Given the description of an element on the screen output the (x, y) to click on. 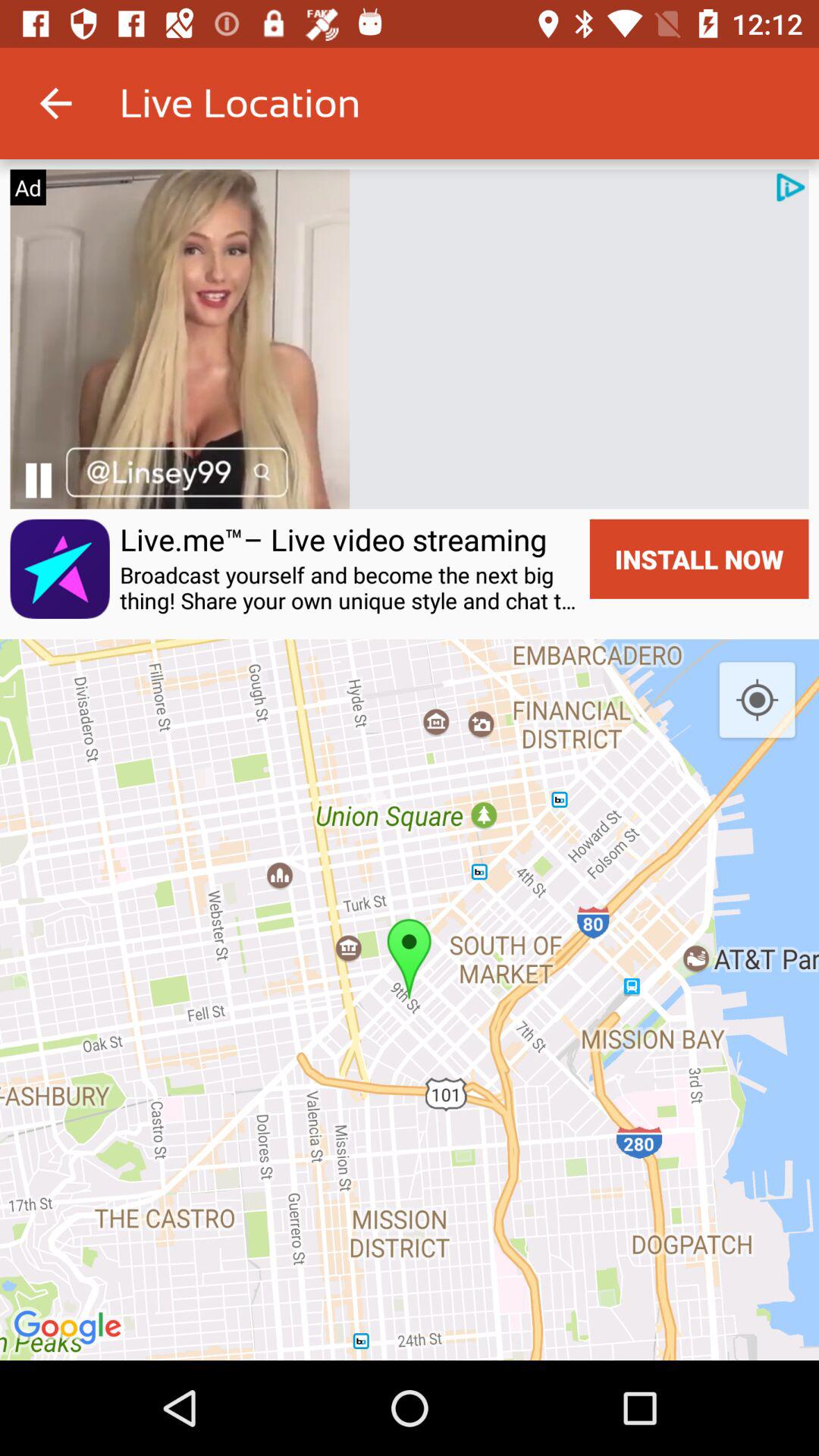
click icon below the install now icon (757, 700)
